Given the description of an element on the screen output the (x, y) to click on. 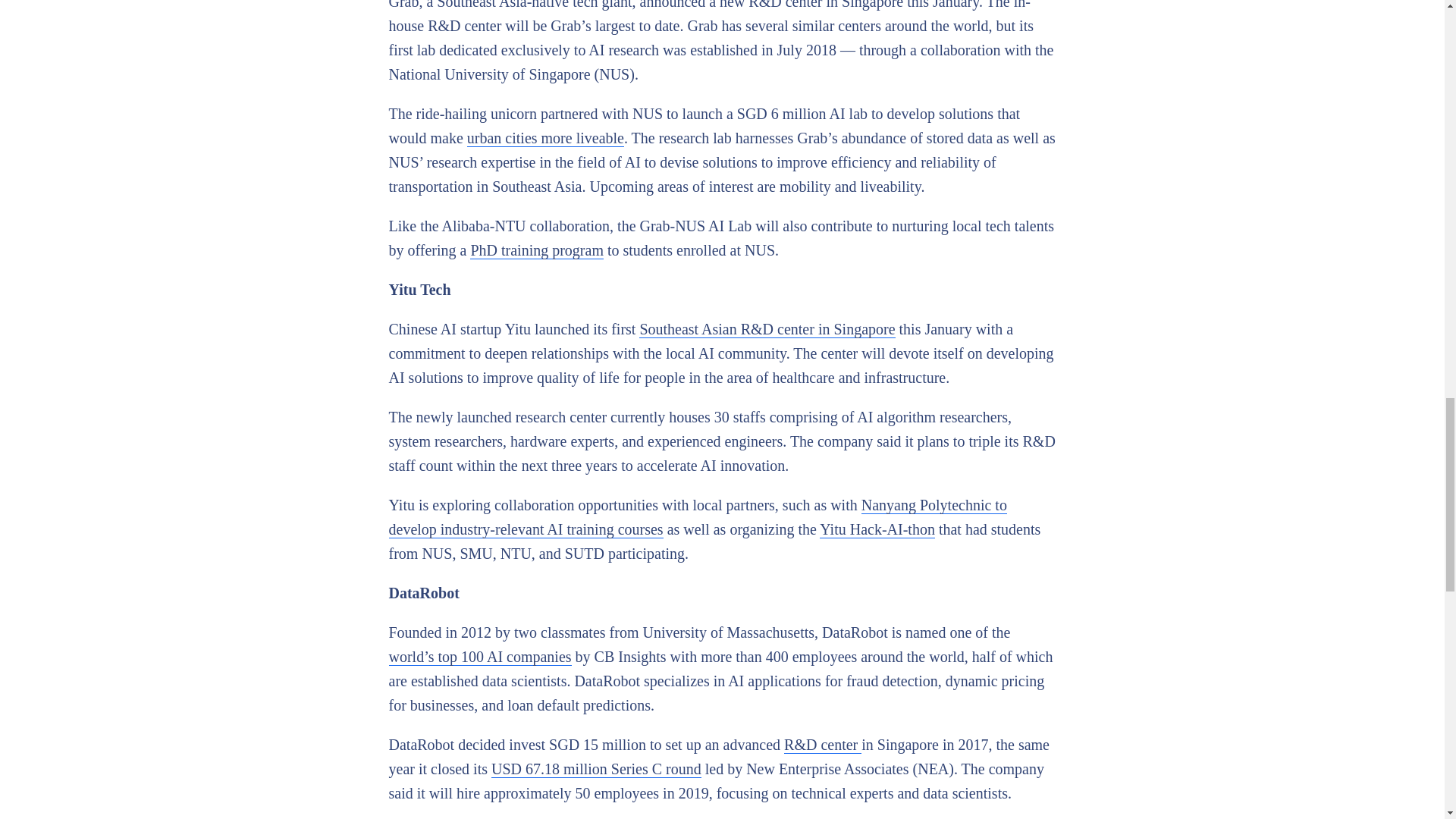
USD 67.18 million Series C round (596, 769)
Yitu Hack-AI-thon (876, 529)
urban cities more liveable (545, 138)
PhD training program (537, 250)
